Given the description of an element on the screen output the (x, y) to click on. 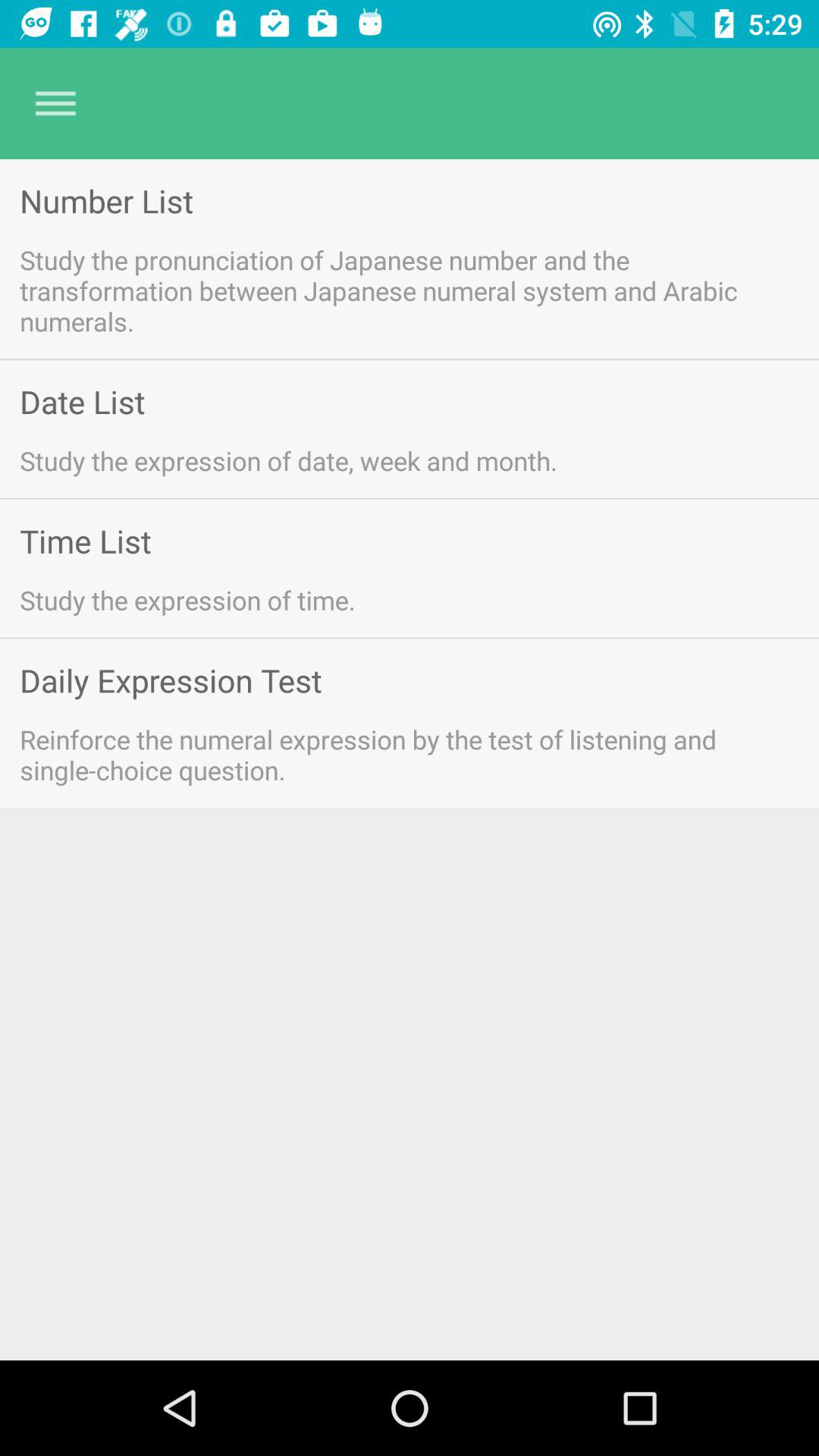
flip until the reinforce the numeral app (389, 754)
